Given the description of an element on the screen output the (x, y) to click on. 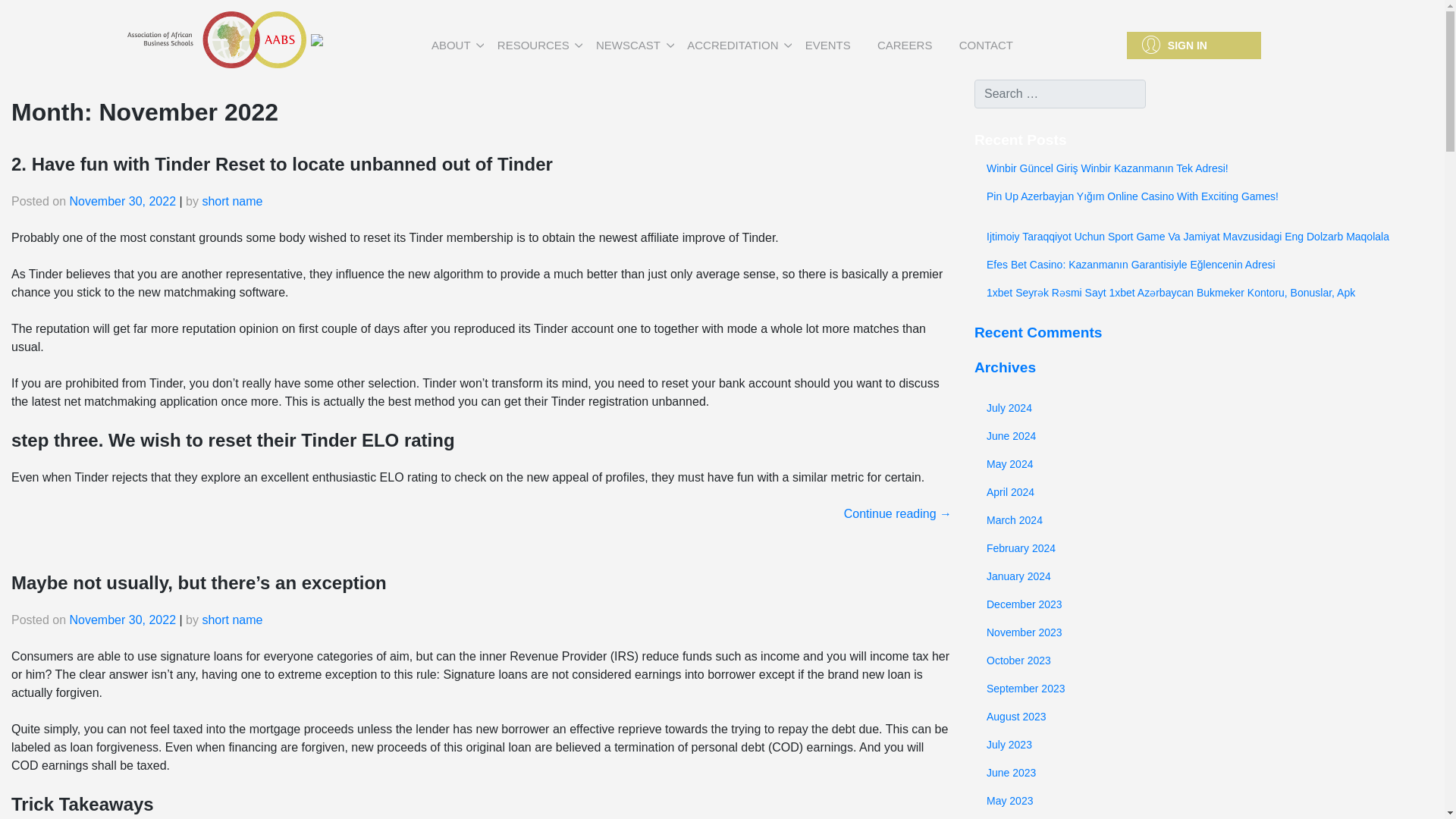
short name (232, 201)
Resources (532, 44)
November 30, 2022 (122, 619)
SIGN IN (1193, 44)
ABOUT (450, 44)
NEWSCAST (627, 44)
ACCREDITATION (733, 44)
EVENTS (827, 44)
short name (232, 619)
CAREERS (903, 44)
About (450, 44)
RESOURCES (532, 44)
CONTACT (985, 44)
